Given the description of an element on the screen output the (x, y) to click on. 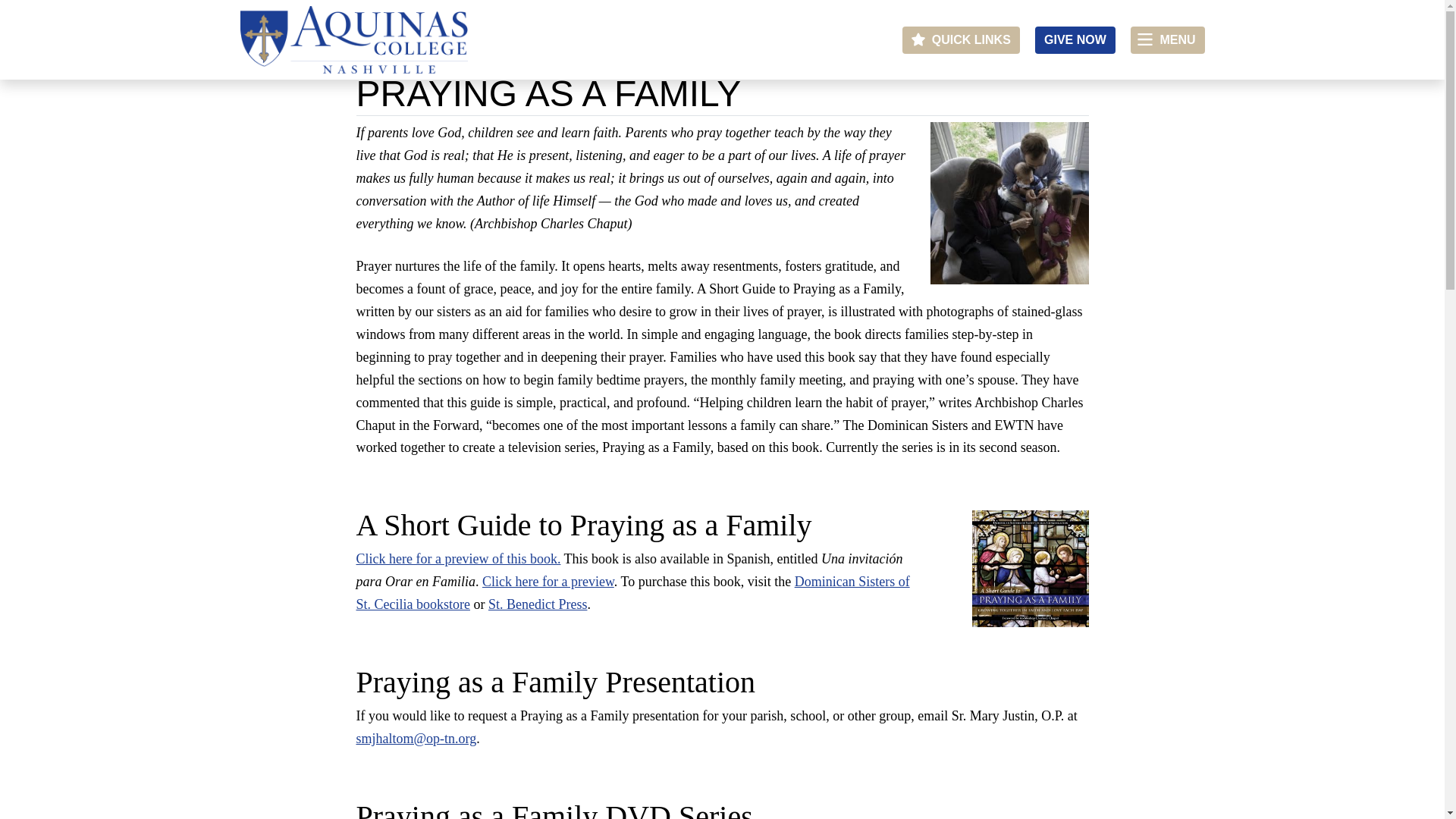
St. Benedict Press (537, 604)
QUICK LINKS (960, 40)
Dominican Sisters of St. Cecilia bookstore (633, 592)
GIVE NOW (1075, 40)
Click here for a preview of this book. (458, 558)
MENU (1168, 40)
Click here for a preview (547, 581)
